Given the description of an element on the screen output the (x, y) to click on. 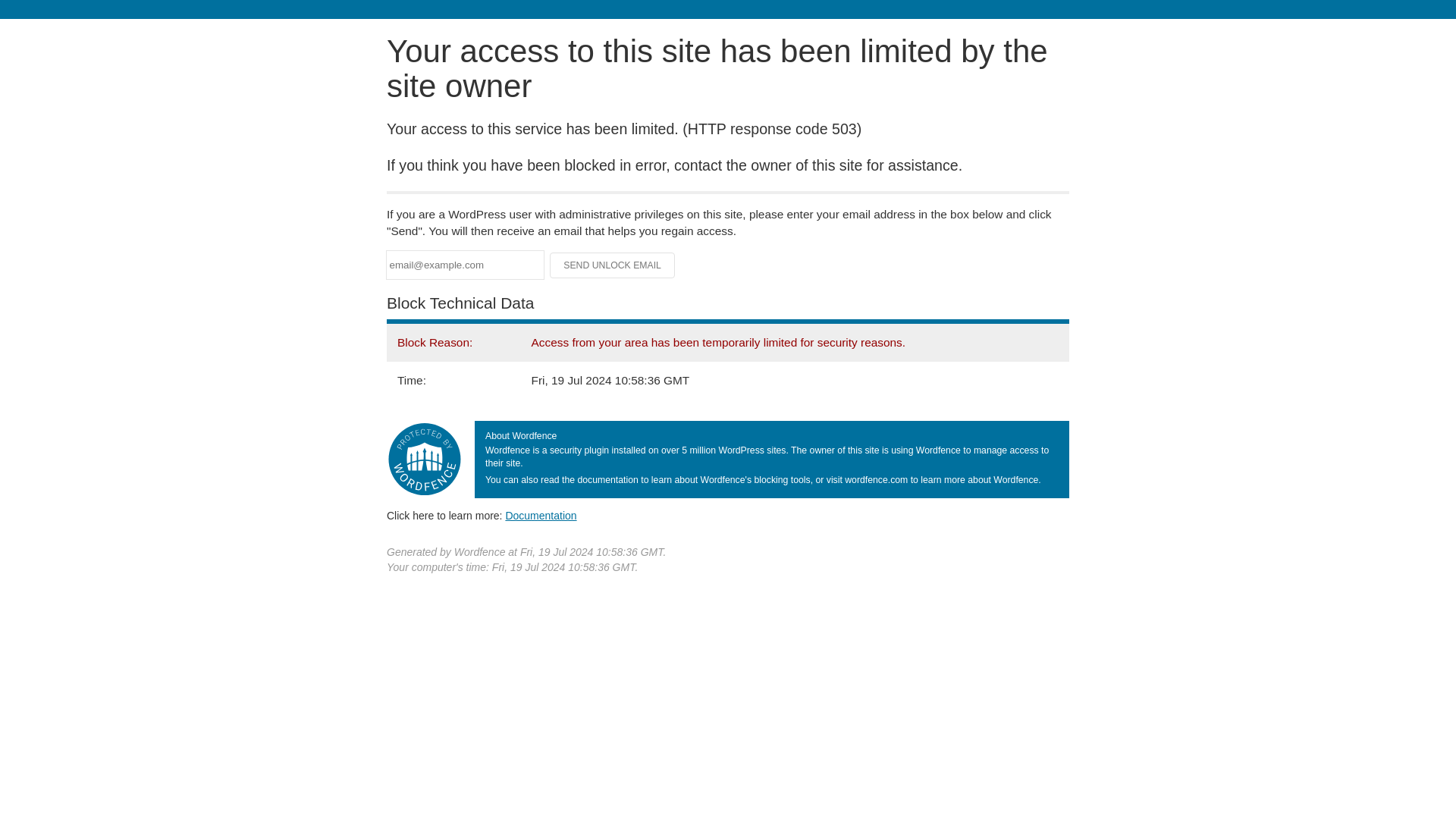
Send Unlock Email (612, 265)
Documentation (540, 515)
Send Unlock Email (612, 265)
